Given the description of an element on the screen output the (x, y) to click on. 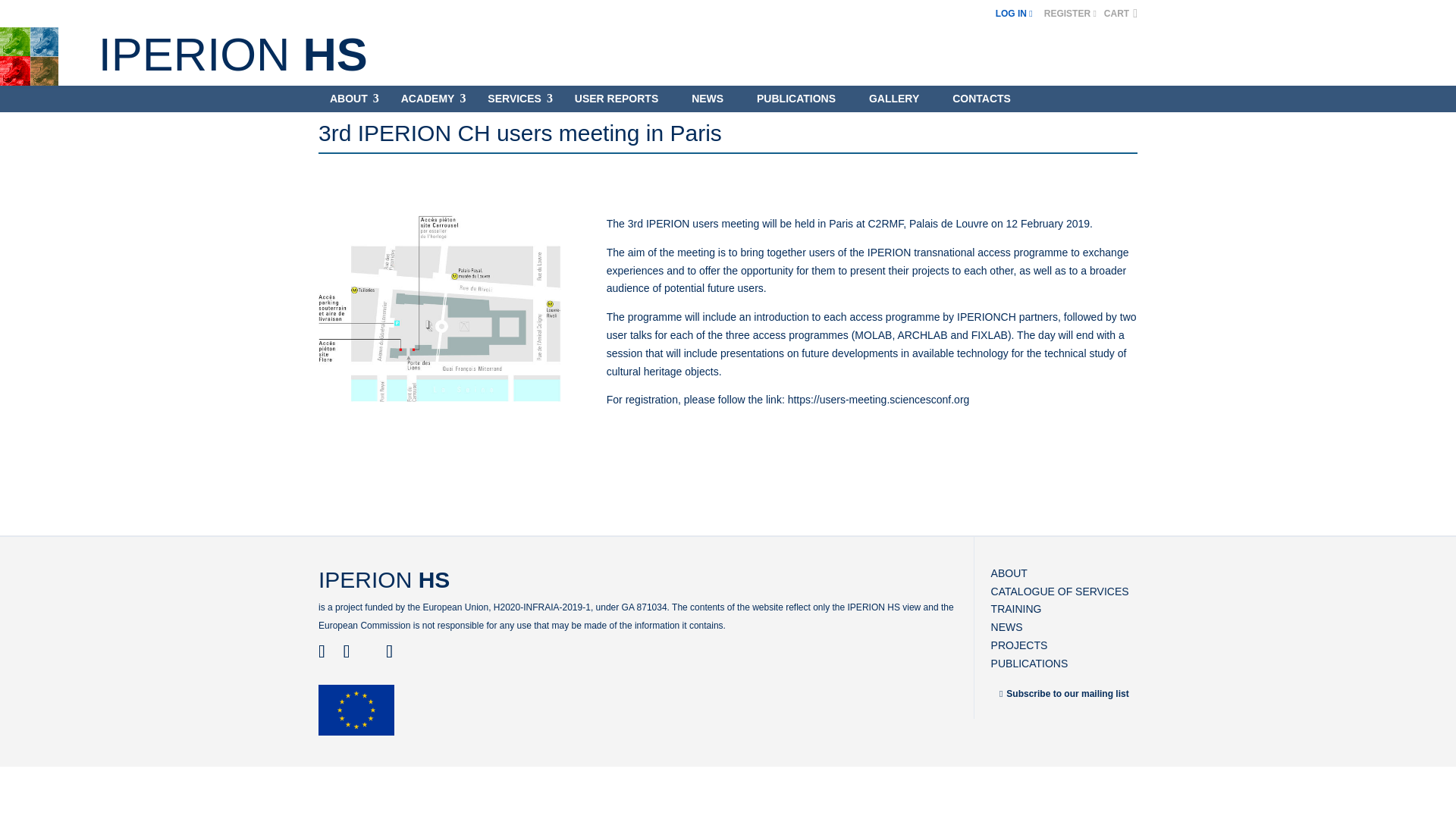
REGISTER (1064, 13)
SERVICES (514, 102)
ABOUT (348, 102)
PUBLICATIONS (796, 102)
GALLERY (893, 102)
LOG IN (1013, 13)
NEWS (707, 102)
IPERION HS (233, 53)
CONTACTS (981, 102)
CART (1120, 13)
